Given the description of an element on the screen output the (x, y) to click on. 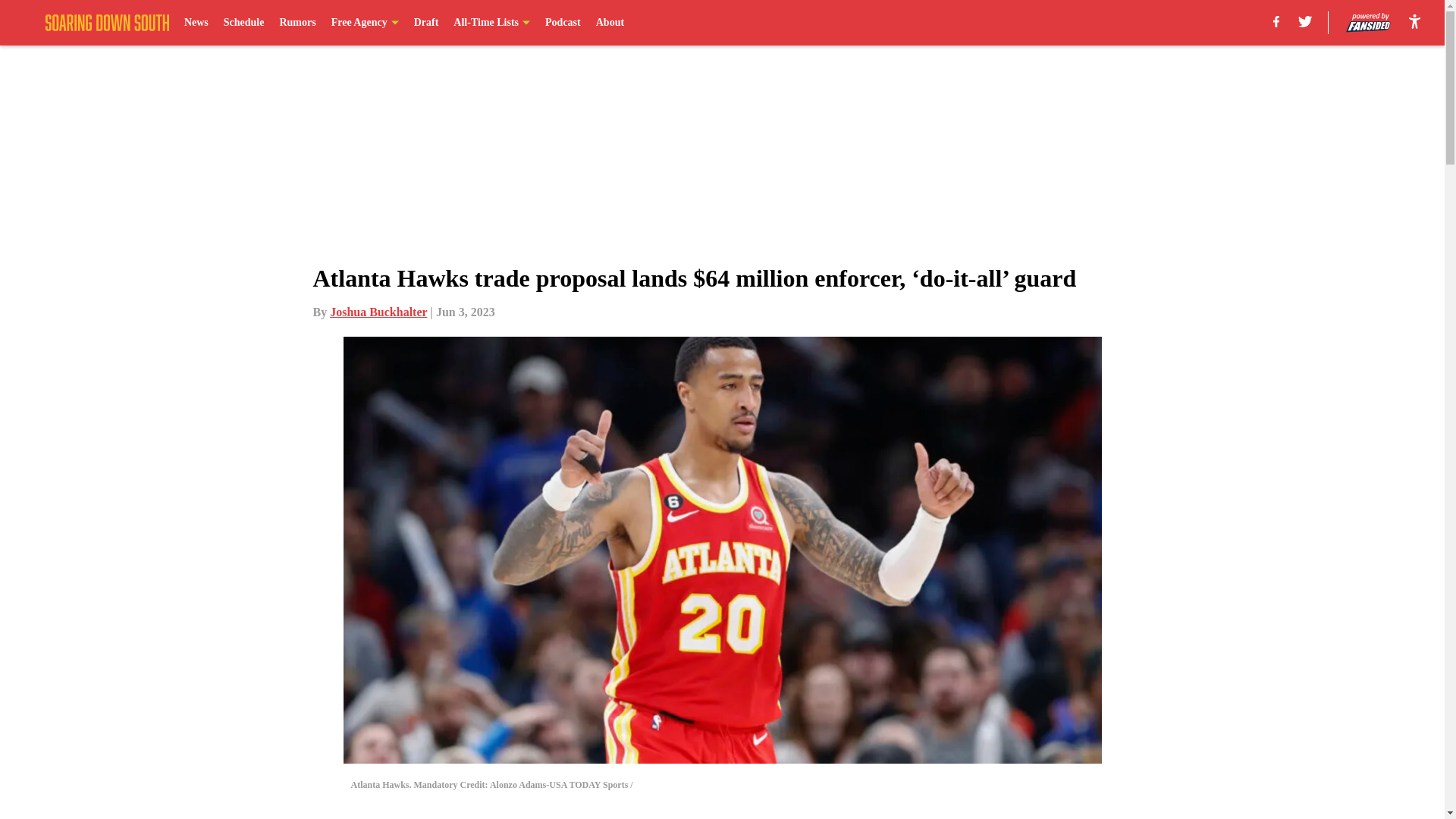
All-Time Lists (490, 22)
News (196, 22)
Free Agency (364, 22)
About (609, 22)
Podcast (562, 22)
Schedule (244, 22)
Rumors (297, 22)
Joshua Buckhalter (378, 311)
Draft (426, 22)
